Given the description of an element on the screen output the (x, y) to click on. 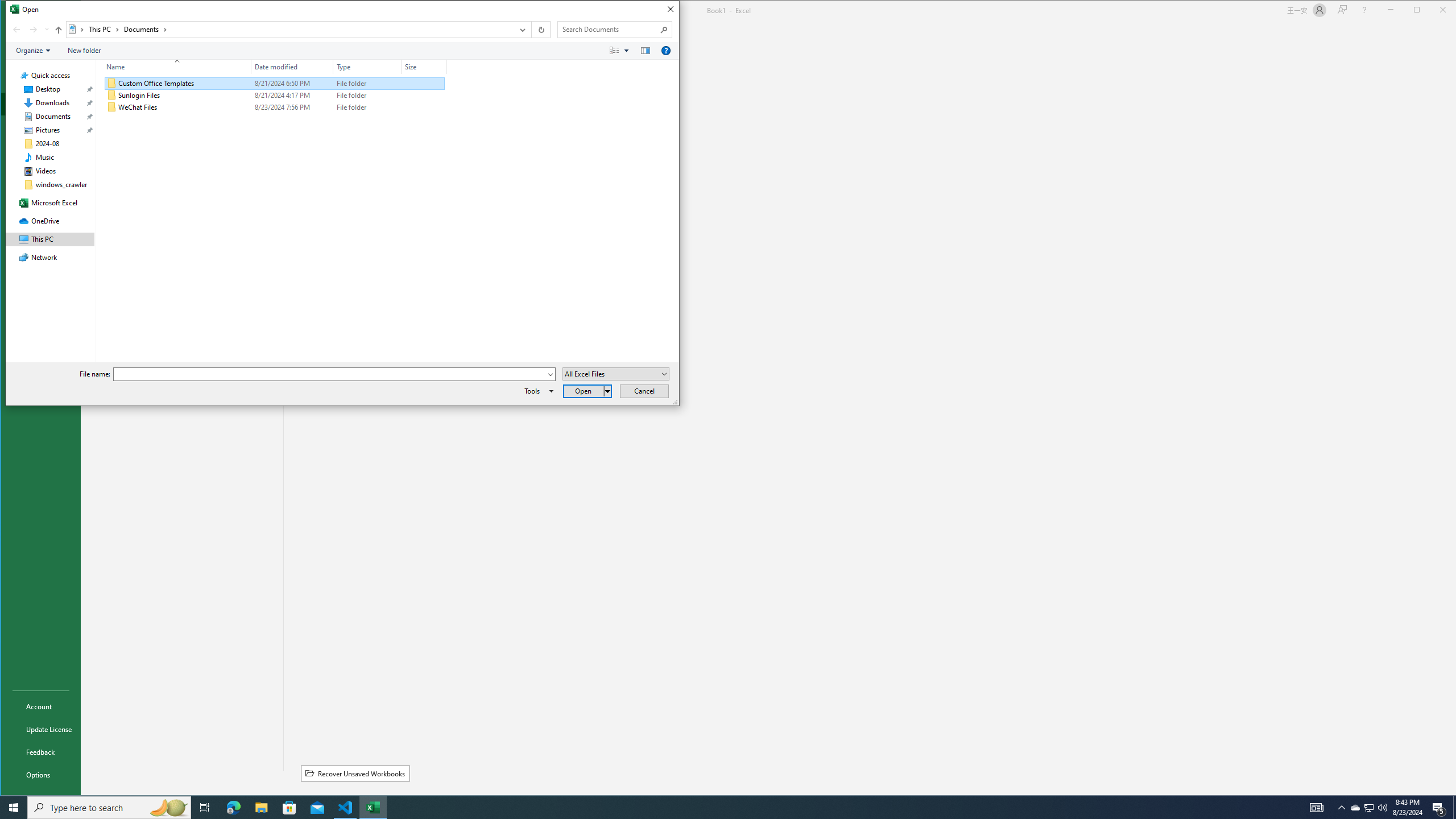
Date modified (292, 107)
Type (367, 66)
Show desktop (1454, 807)
Files of type: (615, 373)
Running applications (717, 807)
New folder (84, 50)
Up to "This PC" (Alt + Up Arrow) (58, 29)
Size (423, 107)
Recover Unsaved Workbooks (355, 773)
This PC (103, 29)
Type here to search (108, 807)
Previous Locations (521, 29)
